Given the description of an element on the screen output the (x, y) to click on. 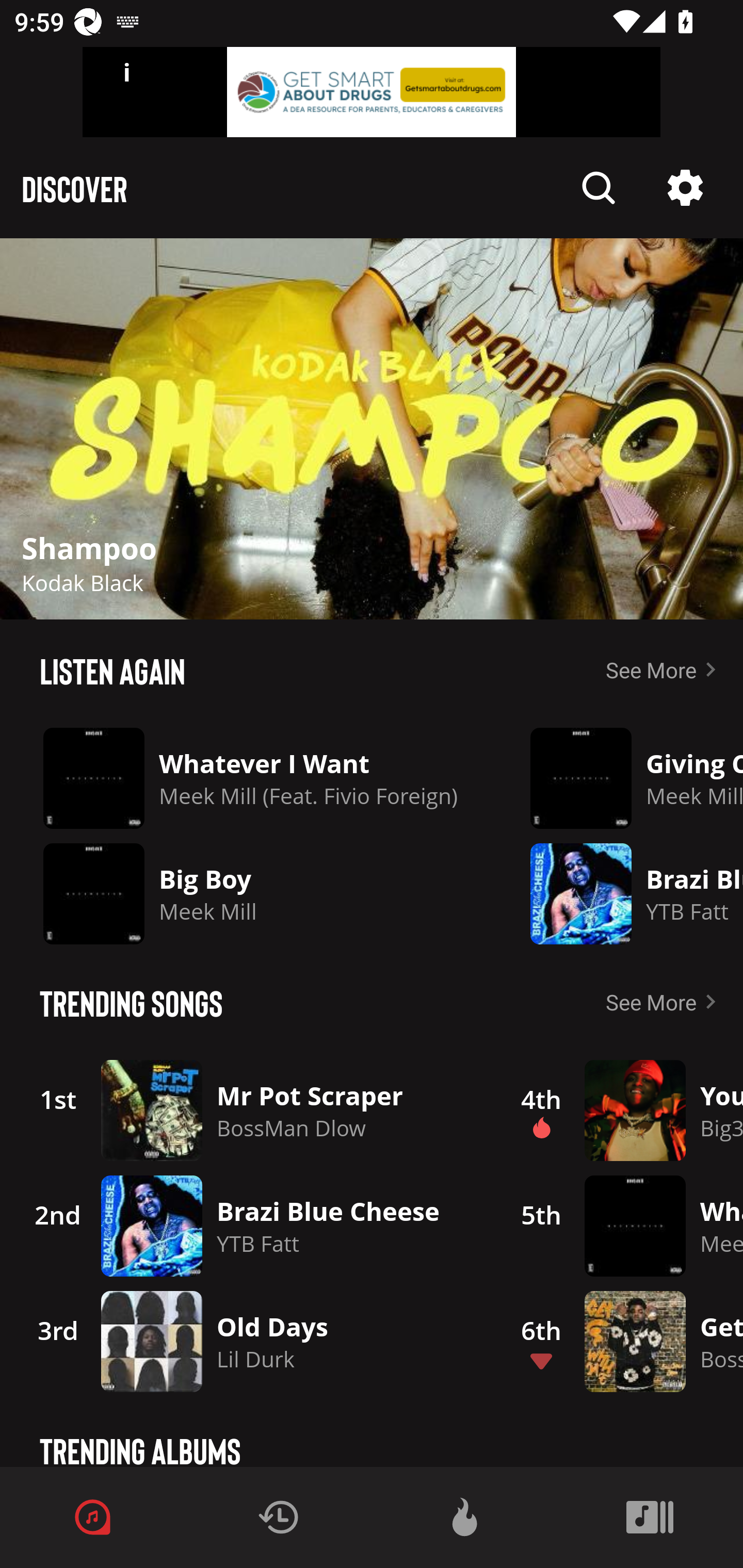
Description (598, 188)
Description (684, 188)
Description (371, 428)
See More (664, 669)
Description Giving Chanel Meek Mill (Feat. Future) (622, 778)
Description Big Boy Meek Mill (250, 893)
Description Brazi Blue Cheese YTB Fatt (622, 893)
See More (664, 1001)
1st Description Mr Pot Scraper BossMan Dlow (248, 1110)
4th Description Description You Thought Big30 (620, 1110)
2nd Description Brazi Blue Cheese YTB Fatt (248, 1226)
3rd Description Old Days Lil Durk (248, 1341)
